Given the description of an element on the screen output the (x, y) to click on. 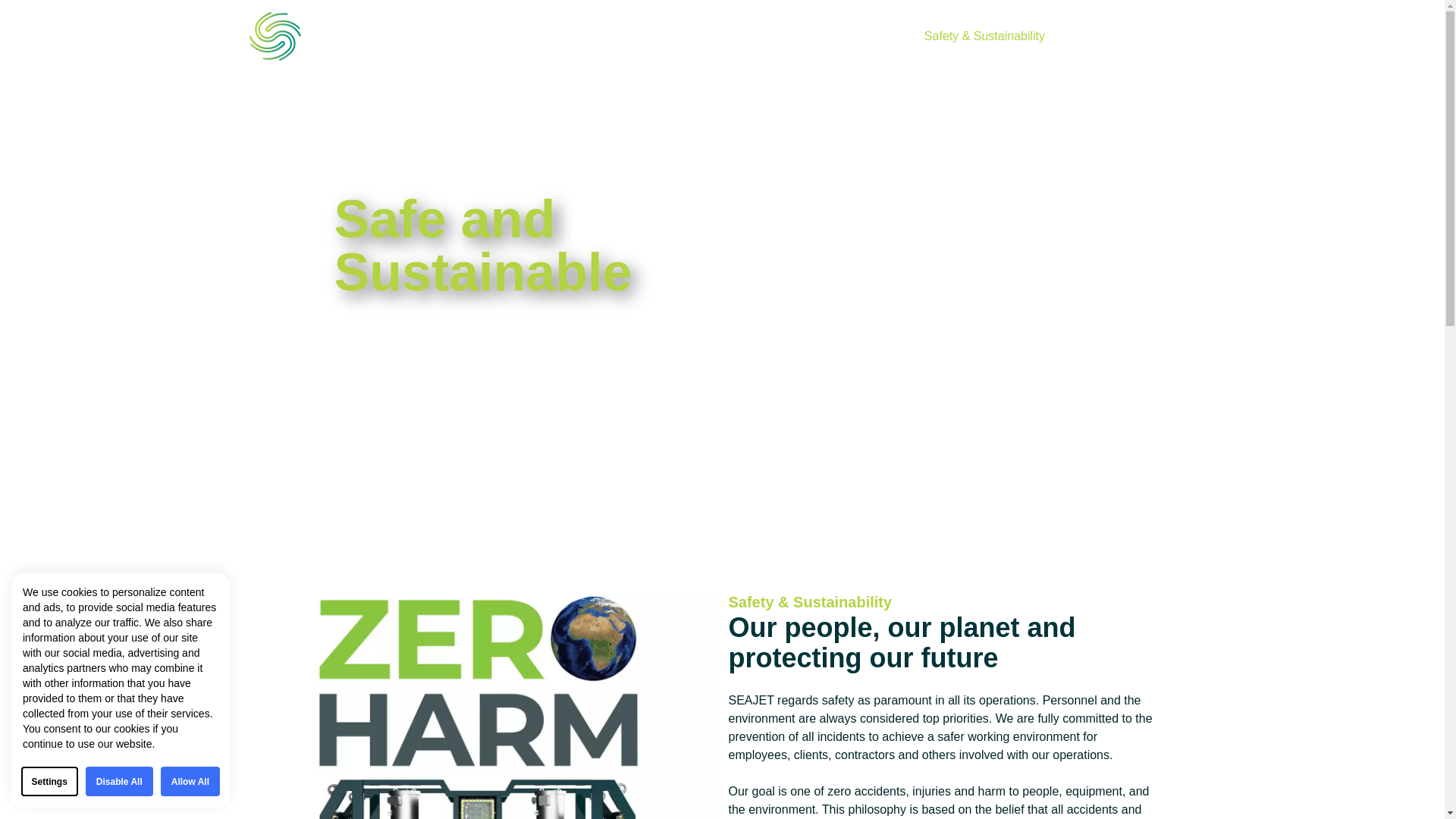
What we do (859, 35)
News (1093, 35)
Evolution (674, 35)
Disable All (118, 781)
Allow All (189, 781)
Settings (49, 781)
Seajet Home (335, 36)
About Us (590, 35)
Technology (762, 35)
